Given the description of an element on the screen output the (x, y) to click on. 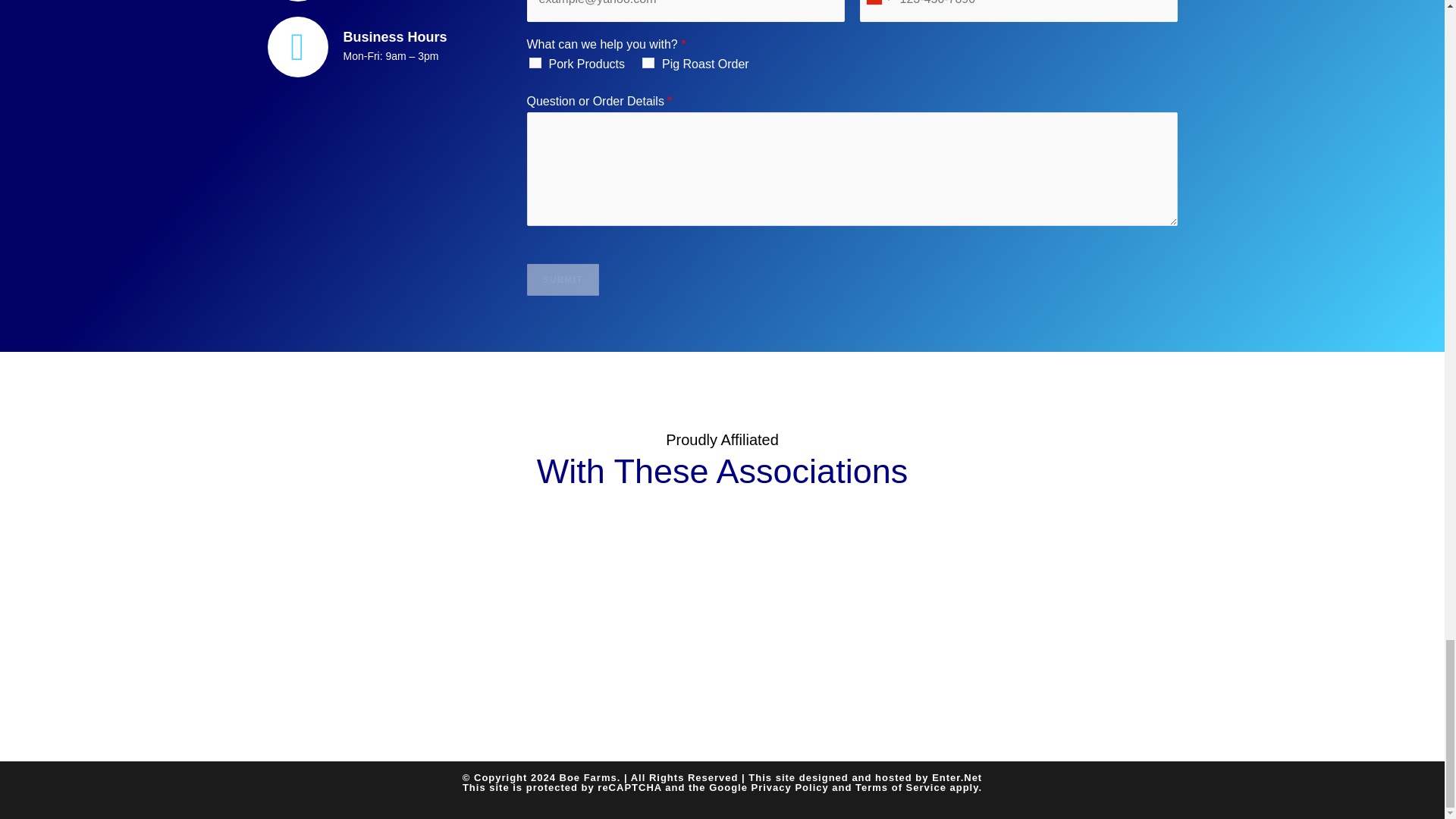
Terms of Service (901, 787)
SUBMIT (561, 279)
Pork Products (535, 62)
Pig Roast Order (647, 62)
Enter.Net (956, 777)
Privacy Policy (789, 787)
